Given the description of an element on the screen output the (x, y) to click on. 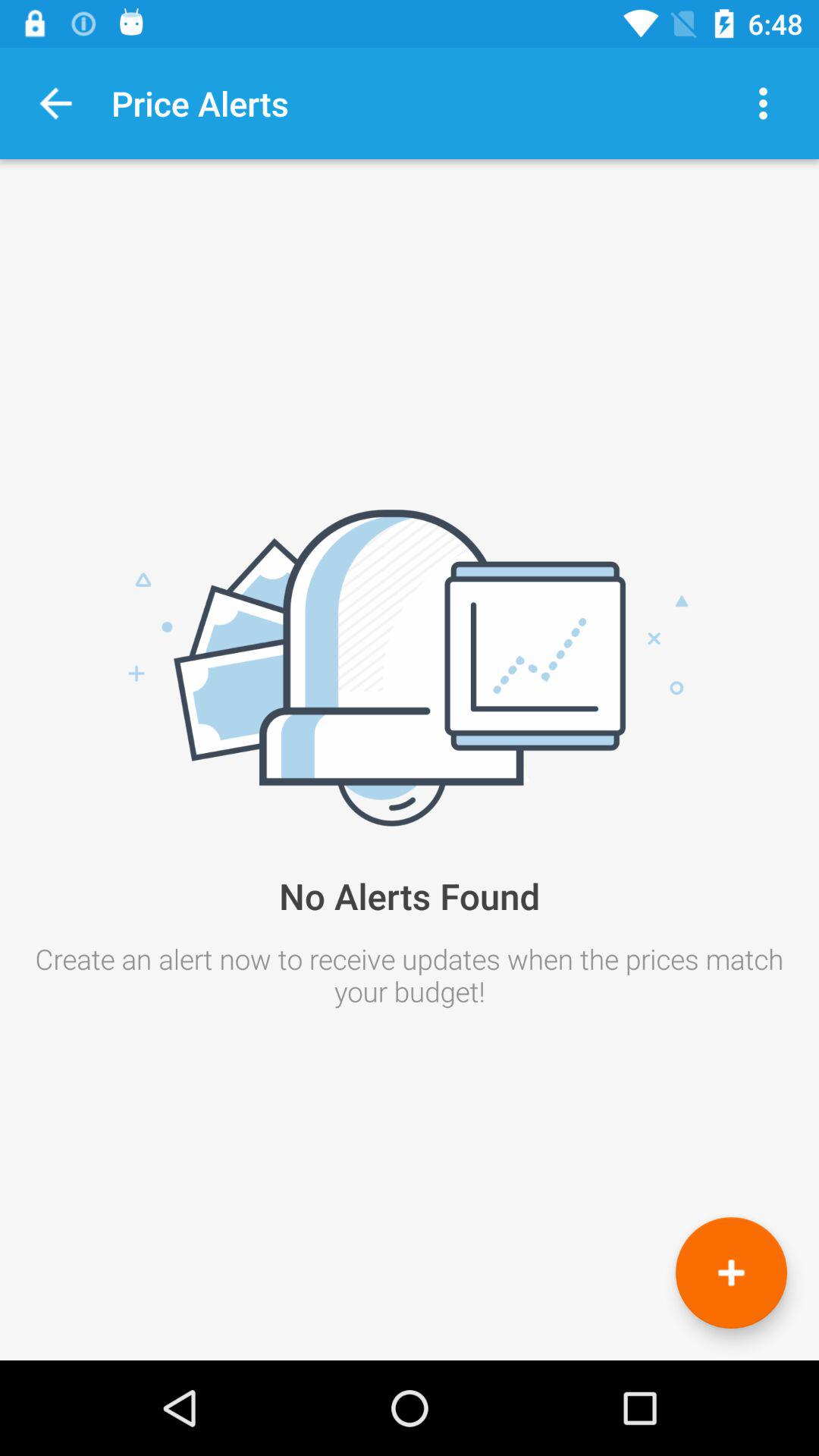
abra as opes (763, 103)
